Given the description of an element on the screen output the (x, y) to click on. 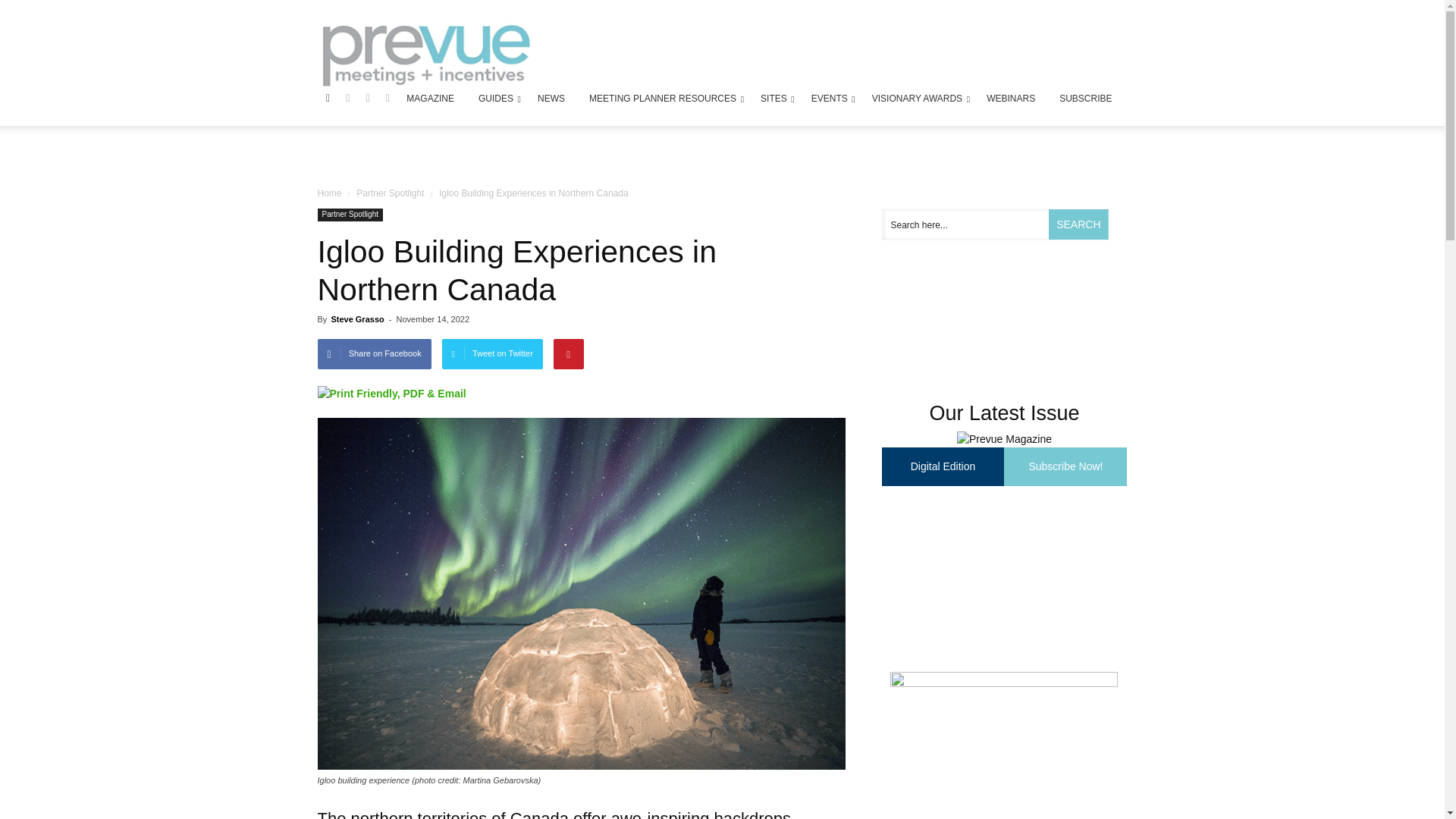
View all posts in Partner Spotlight (389, 193)
